Given the description of an element on the screen output the (x, y) to click on. 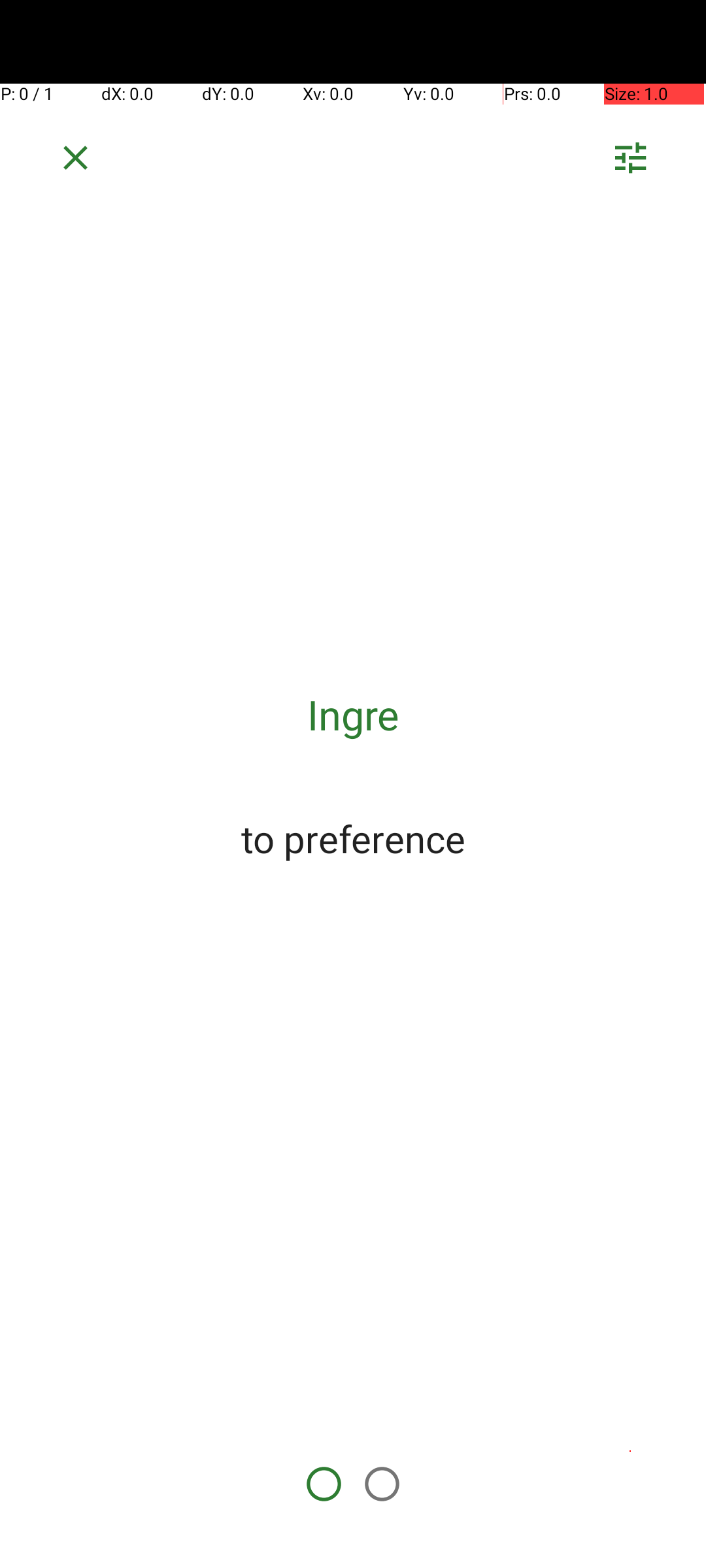
to preference Element type: android.widget.TextView (353, 838)
